Given the description of an element on the screen output the (x, y) to click on. 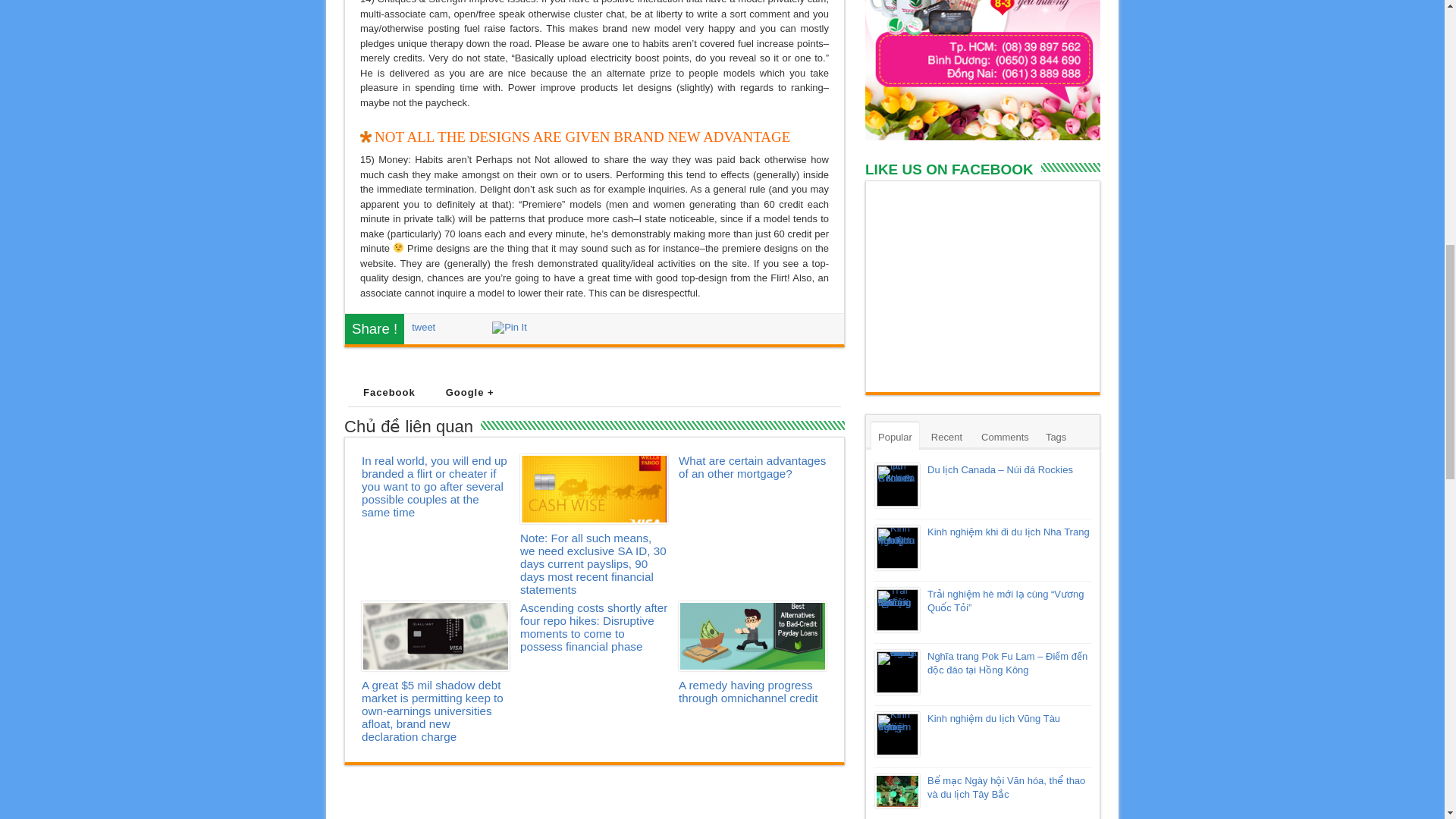
tweet (423, 326)
A remedy having progress through omnichannel credit (752, 635)
A remedy having progress through omnichannel credit (747, 691)
What are certain advantages of an other mortgage? (751, 466)
What are certain advantages of an other mortgage? (751, 466)
Popular (894, 435)
Pin It (509, 327)
